Given the description of an element on the screen output the (x, y) to click on. 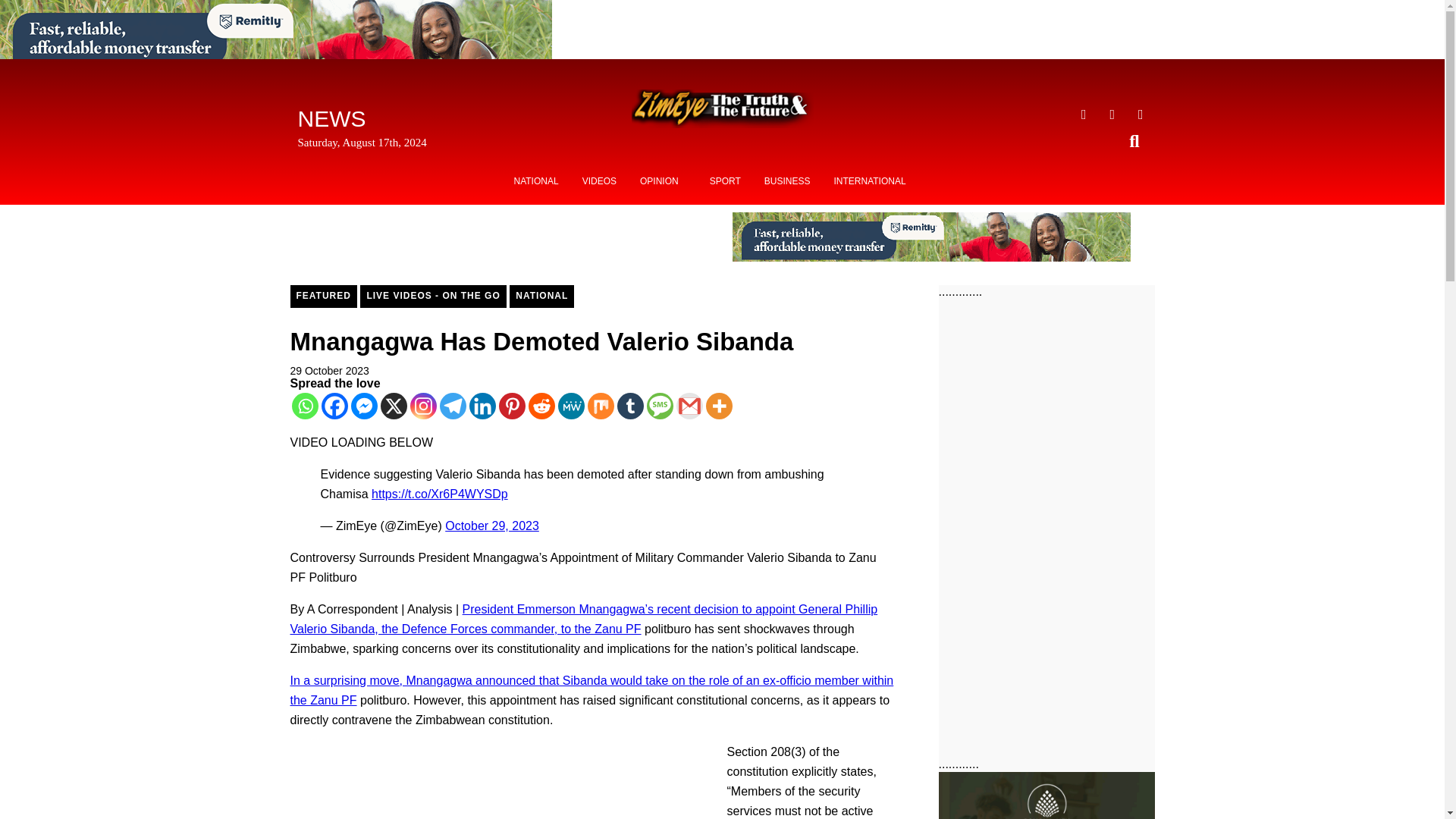
Reddit (540, 406)
NATIONAL (541, 296)
FEATURED (322, 296)
SPORT (725, 181)
Whatsapp (304, 406)
MeWe (571, 406)
X (393, 406)
Facebook (334, 406)
OPINION (662, 181)
LIVE VIDEOS - ON THE GO (432, 296)
